Given the description of an element on the screen output the (x, y) to click on. 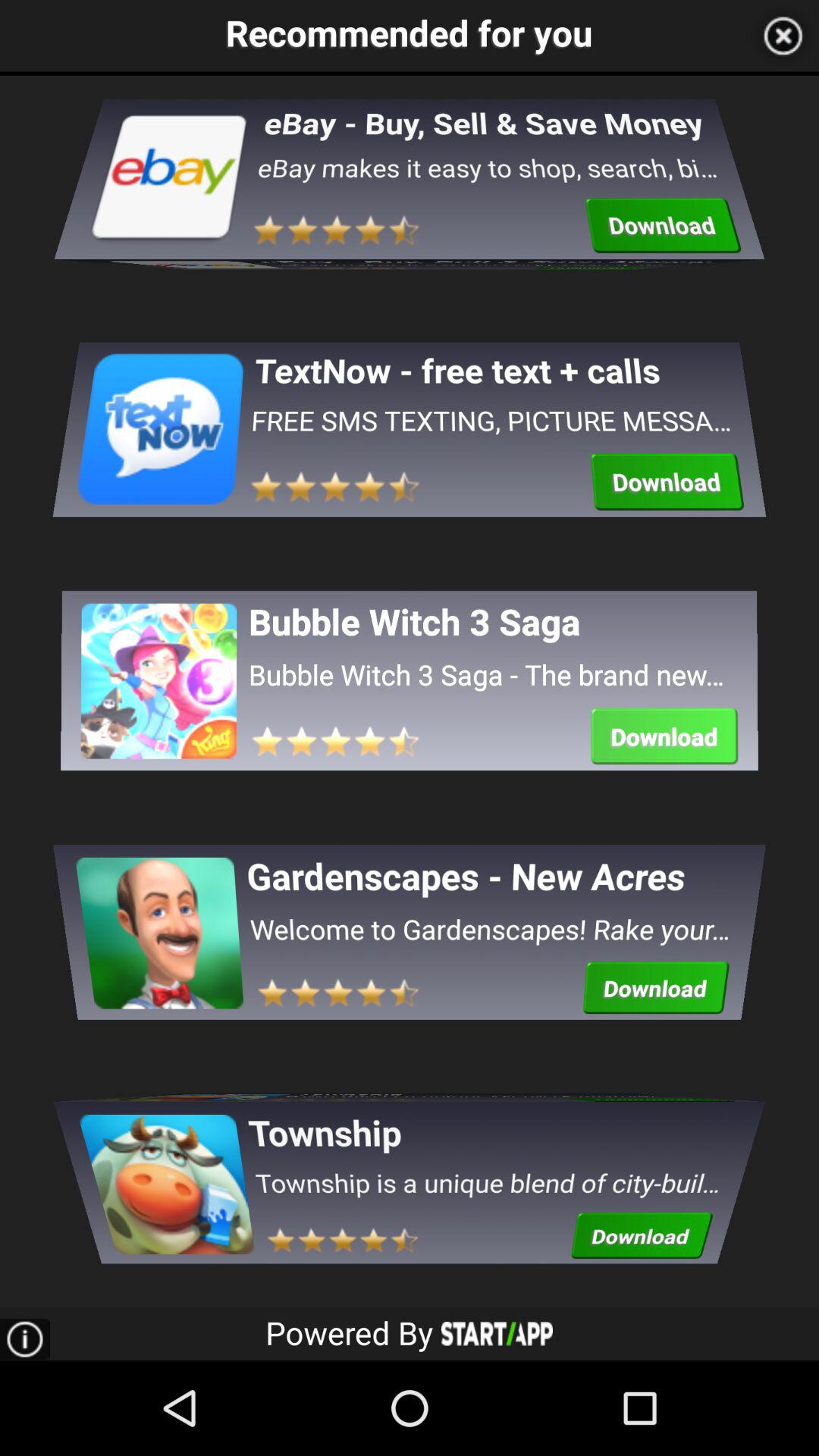
launch icon next to recommended for you icon (783, 35)
